Given the description of an element on the screen output the (x, y) to click on. 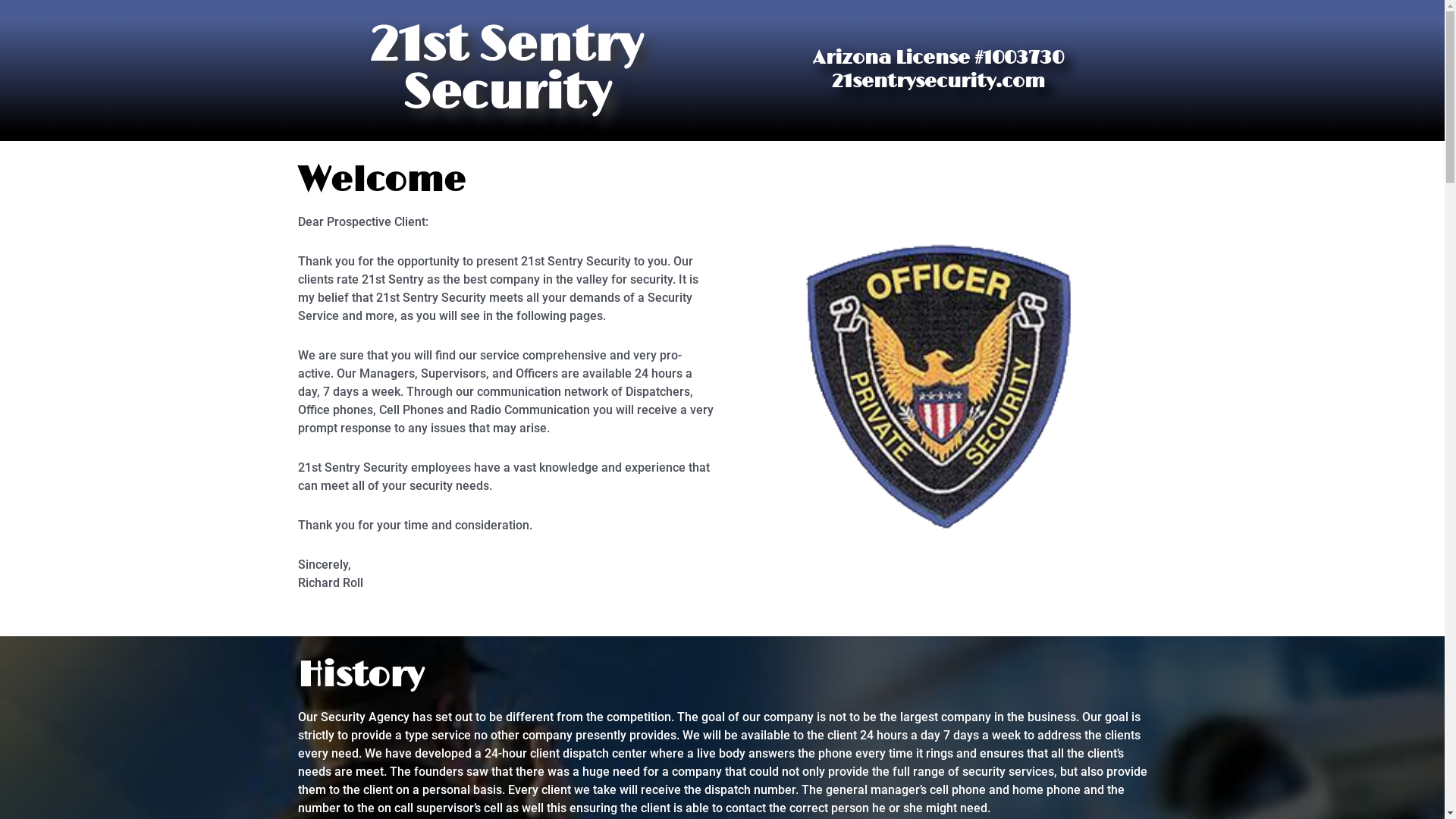
21st Sentry Security Element type: text (506, 69)
